Given the description of an element on the screen output the (x, y) to click on. 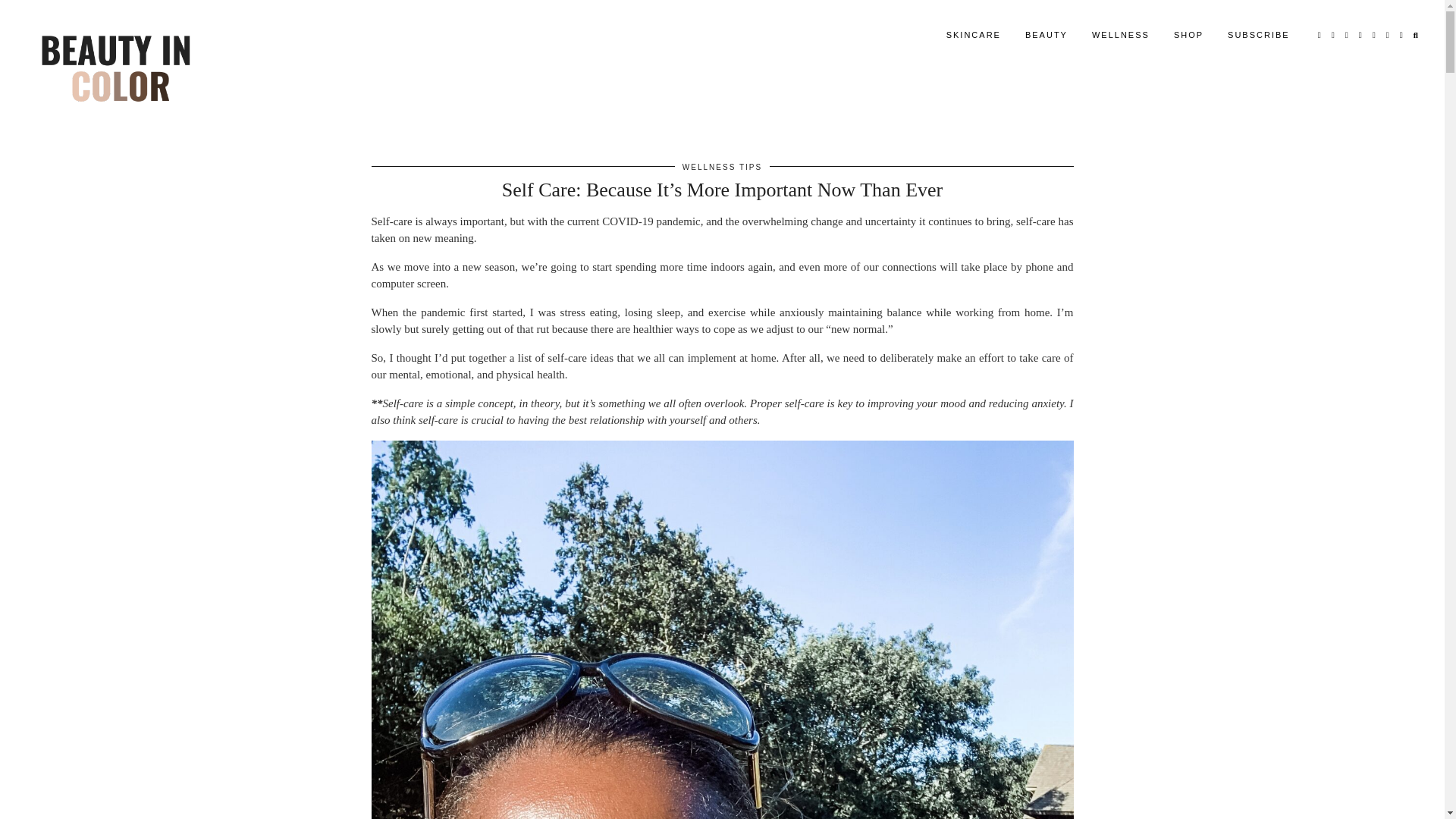
SKINCARE (973, 33)
